Given the description of an element on the screen output the (x, y) to click on. 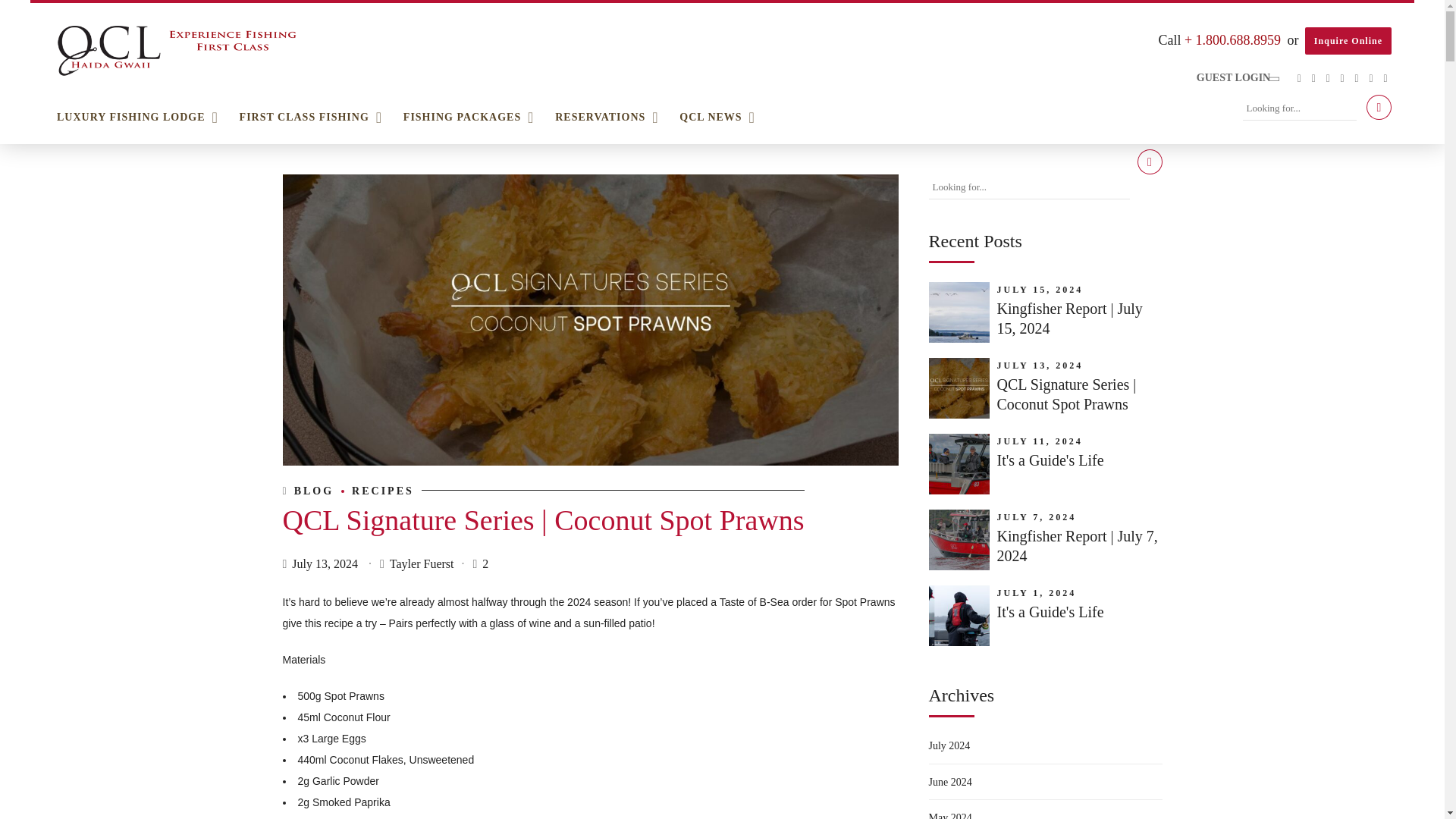
LUXURY FISHING LODGE (130, 117)
Inquire Online (1347, 40)
GUEST LOGIN (1237, 77)
